Given the description of an element on the screen output the (x, y) to click on. 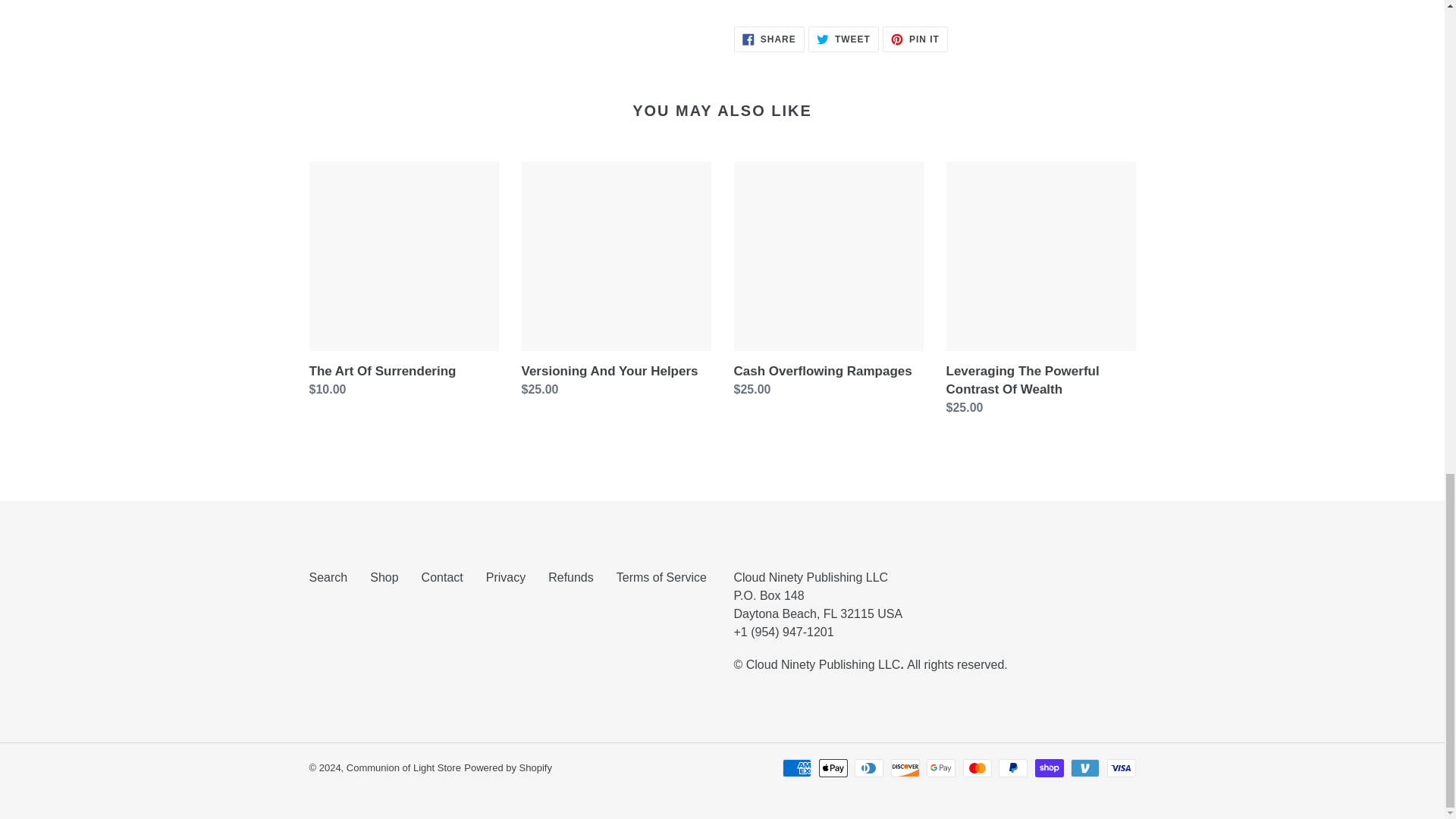
Communion of Light Store (403, 767)
Contact (442, 576)
Terms of Service (660, 576)
Search (327, 576)
Powered by Shopify (914, 39)
Cloud Ninety Publishing LLC (507, 767)
Privacy (823, 664)
Shop (505, 576)
Refunds (769, 39)
